Given the description of an element on the screen output the (x, y) to click on. 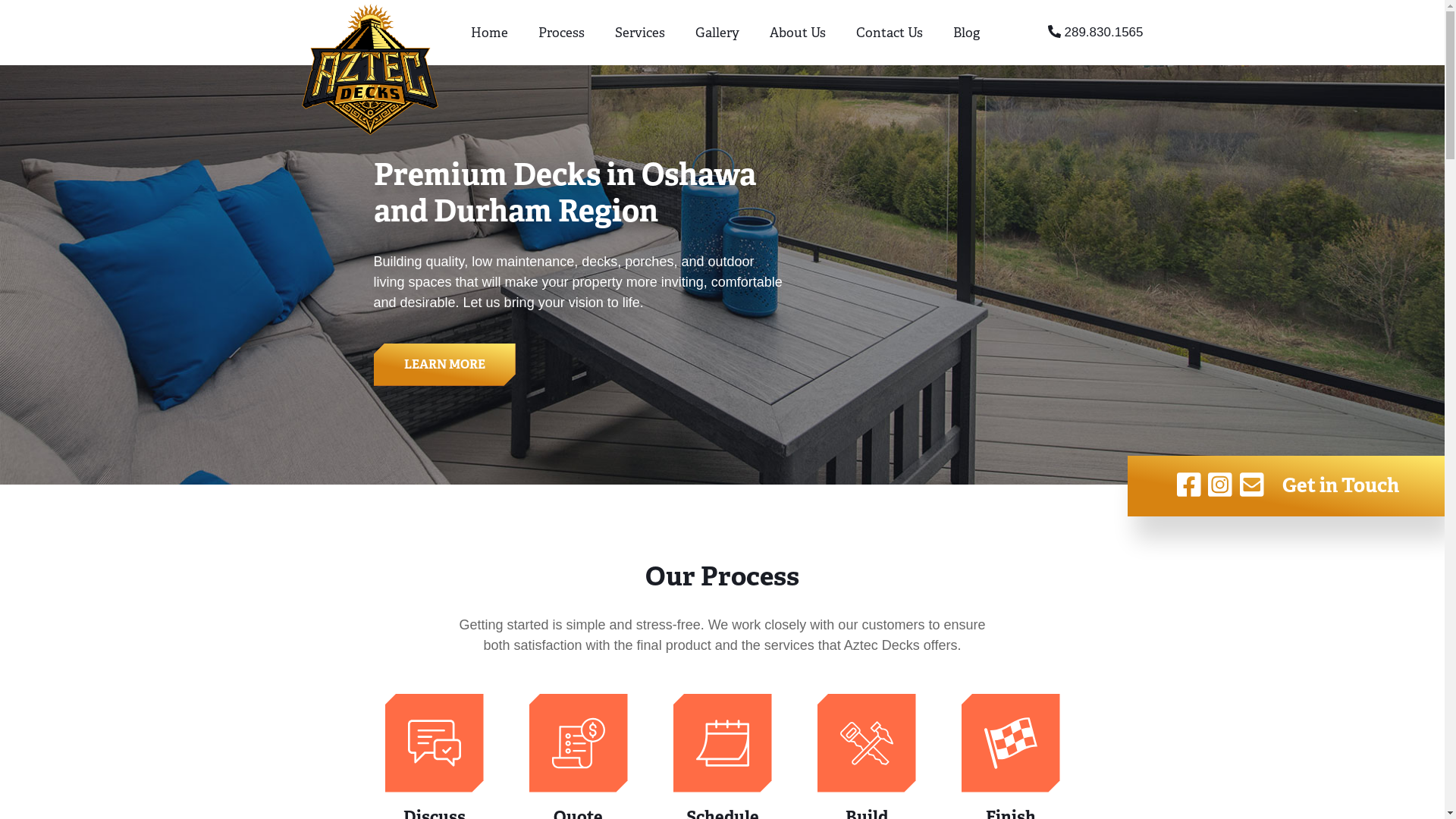
Gallery Element type: text (717, 32)
About Us Element type: text (797, 32)
Process Element type: text (561, 32)
Contact Us Element type: text (889, 32)
Blog Element type: text (966, 32)
289.830.1565 Element type: text (1068, 32)
Home Element type: text (489, 32)
LEARN MORE Element type: text (443, 363)
Services Element type: text (639, 32)
